Given the description of an element on the screen output the (x, y) to click on. 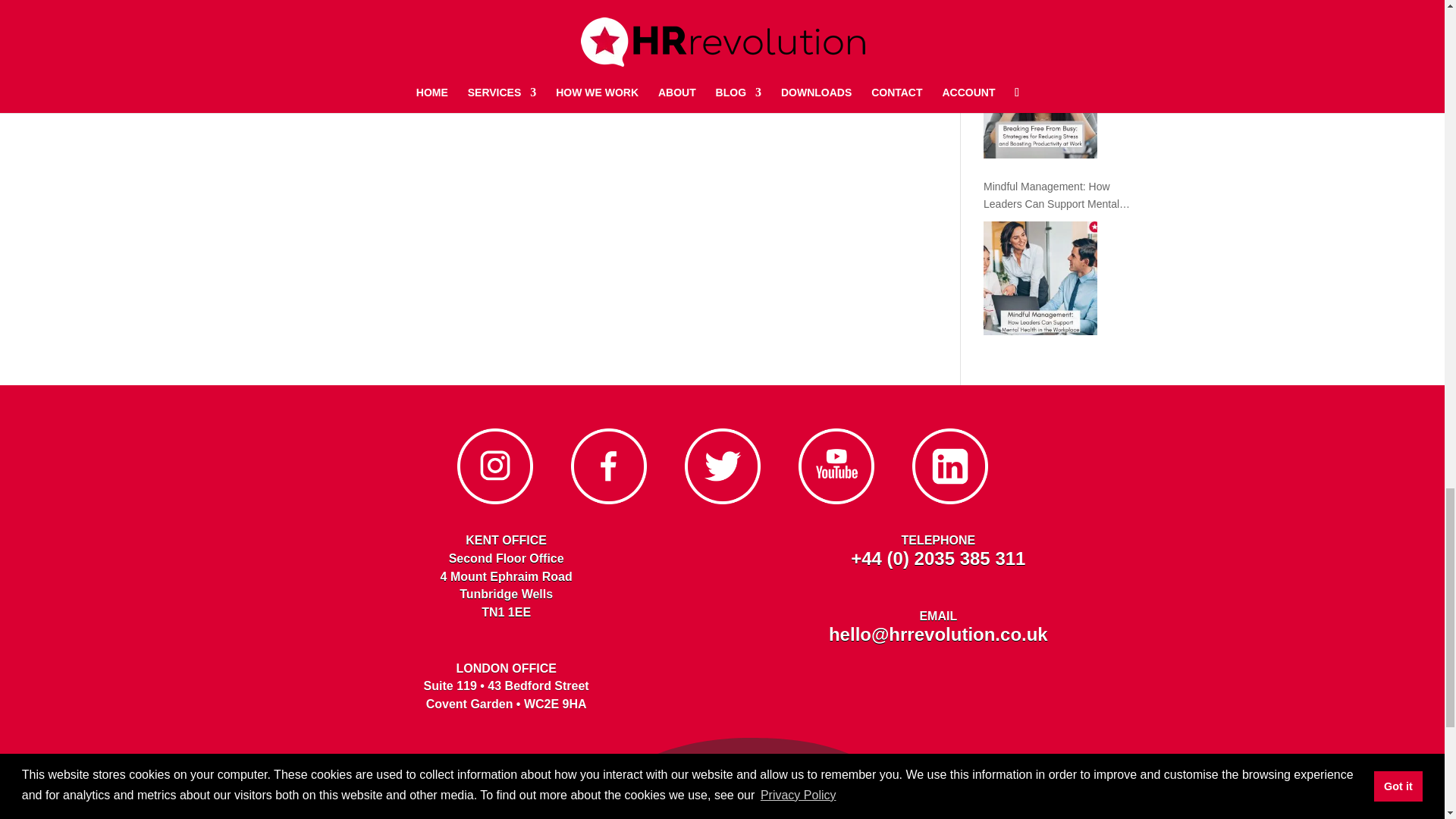
HR Revolution on Twitter (722, 500)
HR Revolution on Instagram (494, 500)
HR Revolution on Youtube (835, 500)
HR Revolution on Facebook (608, 500)
